Given the description of an element on the screen output the (x, y) to click on. 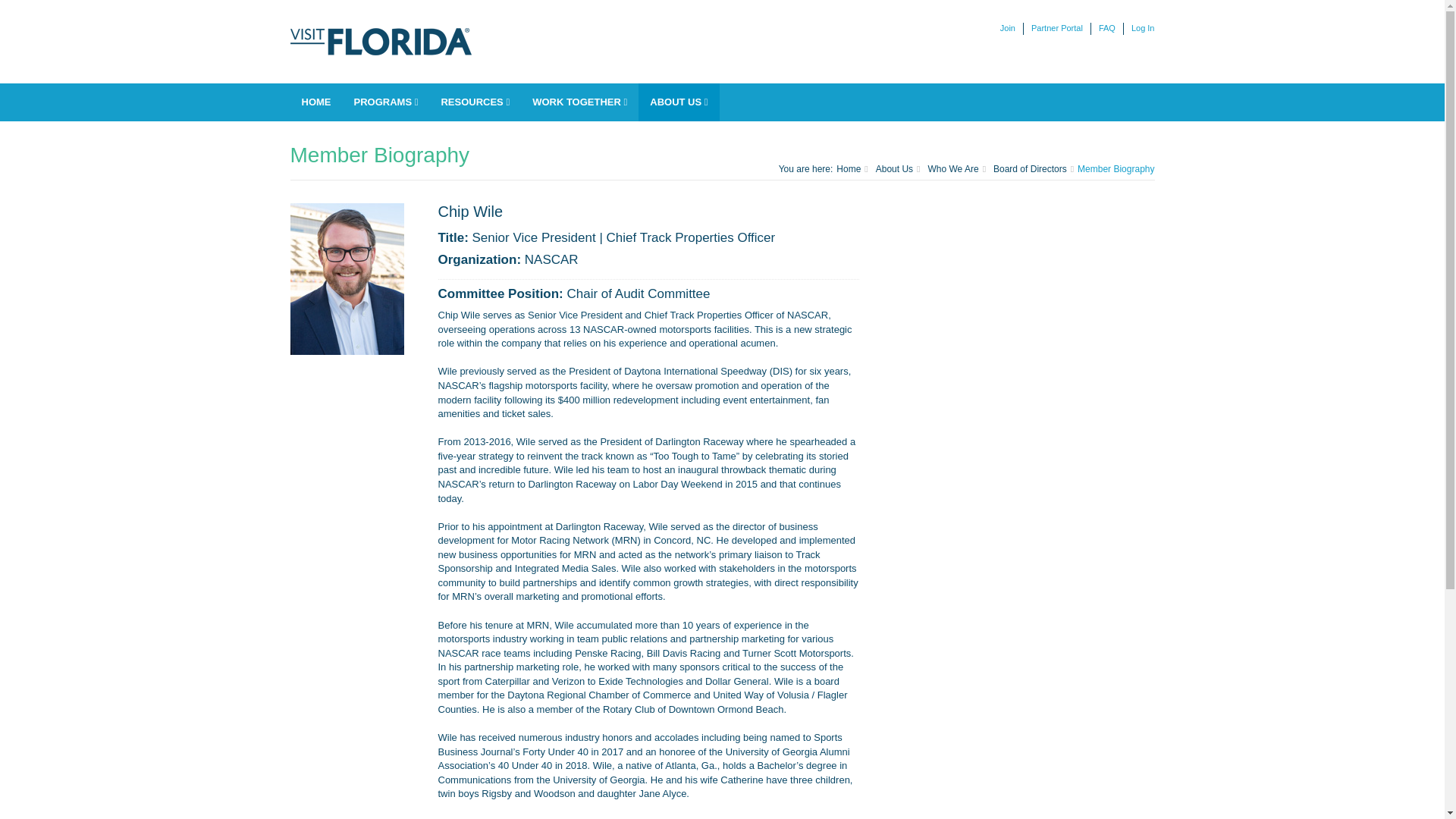
HOME (315, 102)
RESOURCES (475, 102)
Partner Portal (1056, 28)
Join (1007, 28)
FAQ (1107, 28)
Log In (1139, 28)
PROGRAMS (385, 102)
